Given the description of an element on the screen output the (x, y) to click on. 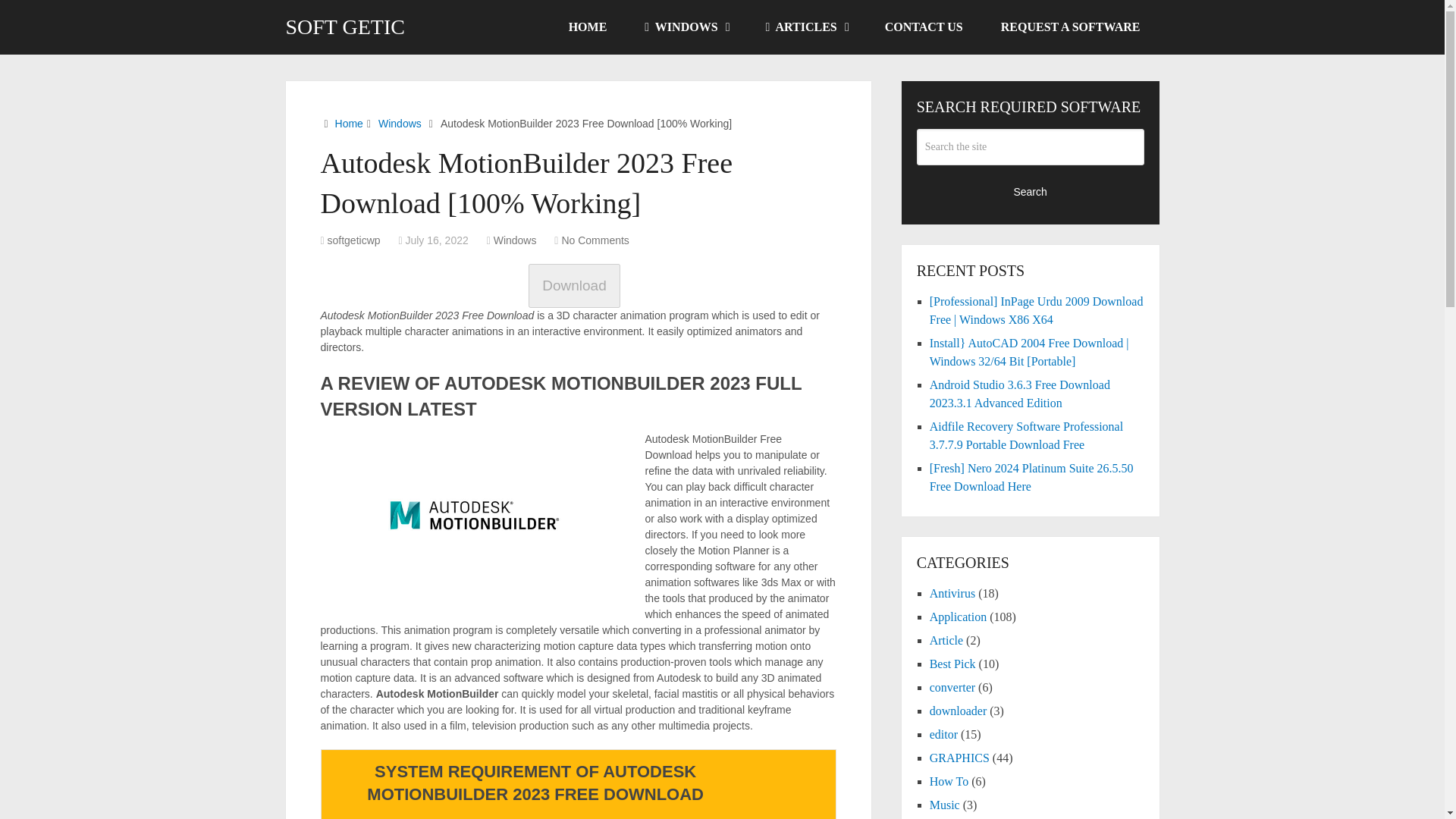
ARTICLES (806, 27)
Download (577, 286)
No Comments (594, 240)
WINDOWS (685, 27)
REQUEST A SOFTWARE (1069, 27)
softgeticwp (353, 240)
SOFT GETIC (344, 26)
Posts by softgeticwp (353, 240)
Windows (400, 123)
Download (574, 285)
